Given the description of an element on the screen output the (x, y) to click on. 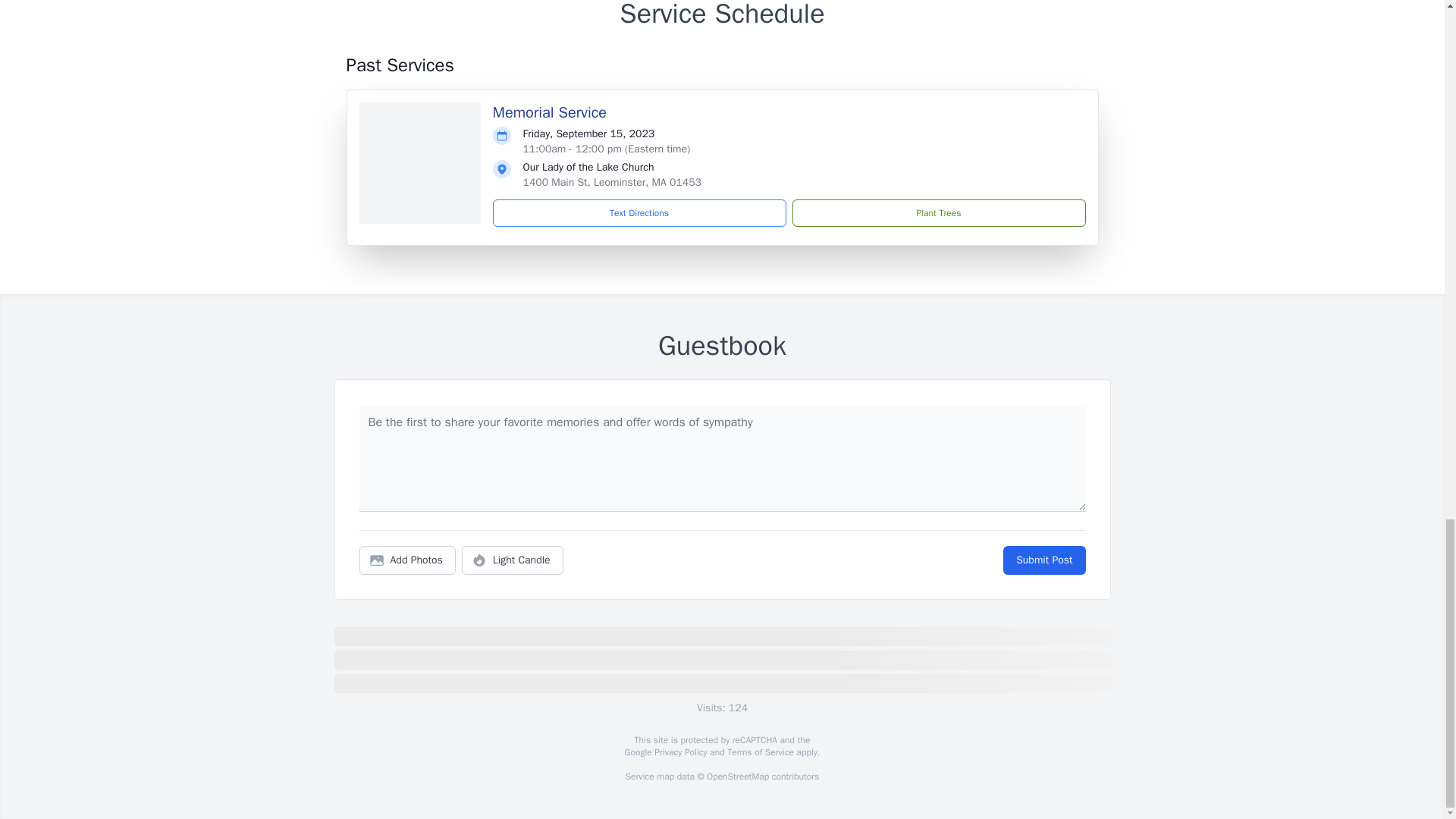
Add Photos (407, 560)
Text Directions (639, 212)
1400 Main St, Leominster, MA 01453 (611, 182)
Terms of Service (759, 752)
Submit Post (1043, 560)
Light Candle (512, 560)
OpenStreetMap (737, 776)
Privacy Policy (679, 752)
Plant Trees (938, 212)
